Given the description of an element on the screen output the (x, y) to click on. 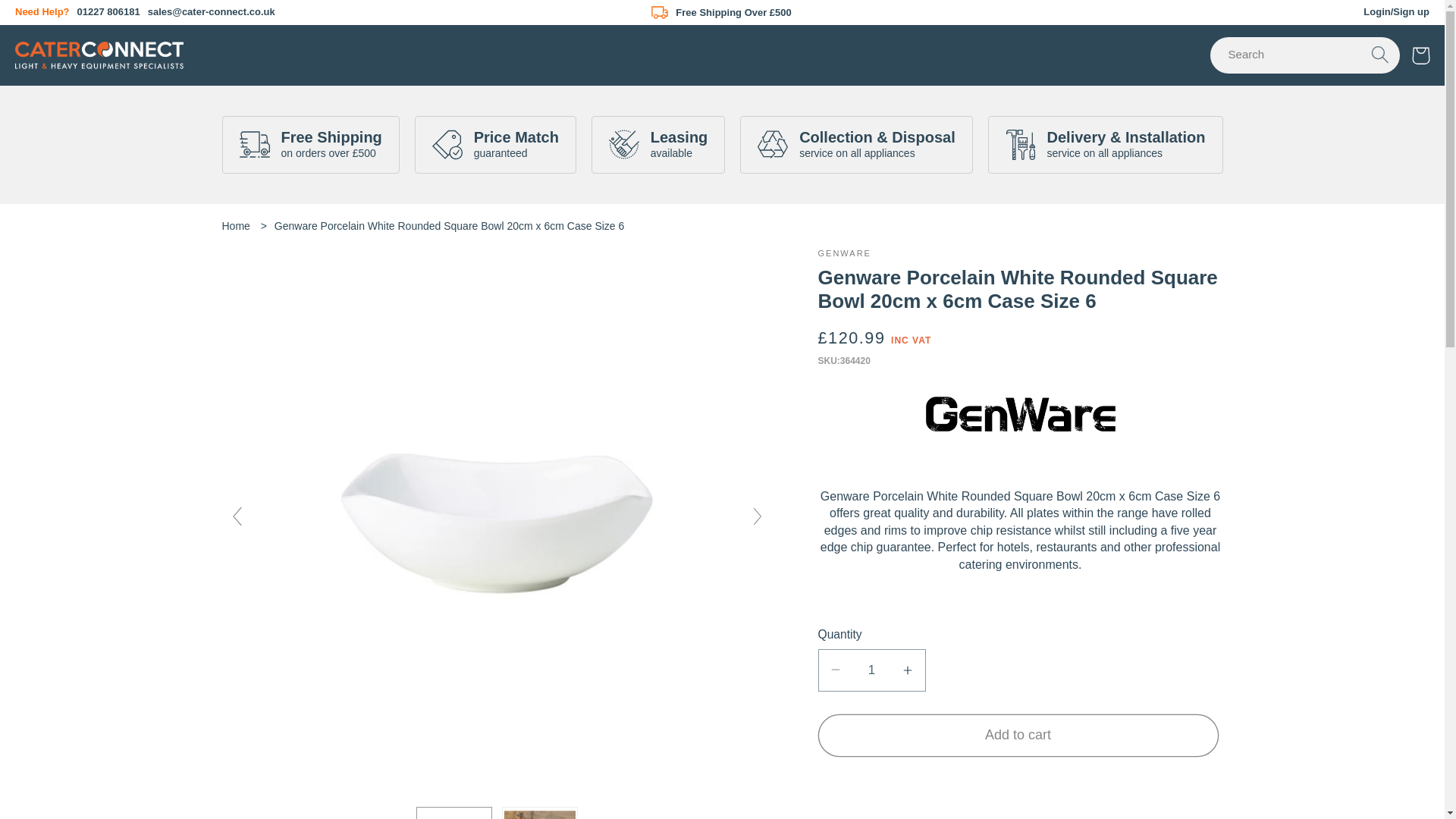
Skip to content (55, 20)
Home (234, 225)
Catalog (291, 44)
01227 806181 (108, 11)
Cart (1420, 56)
1 (870, 670)
Home (231, 44)
